Given the description of an element on the screen output the (x, y) to click on. 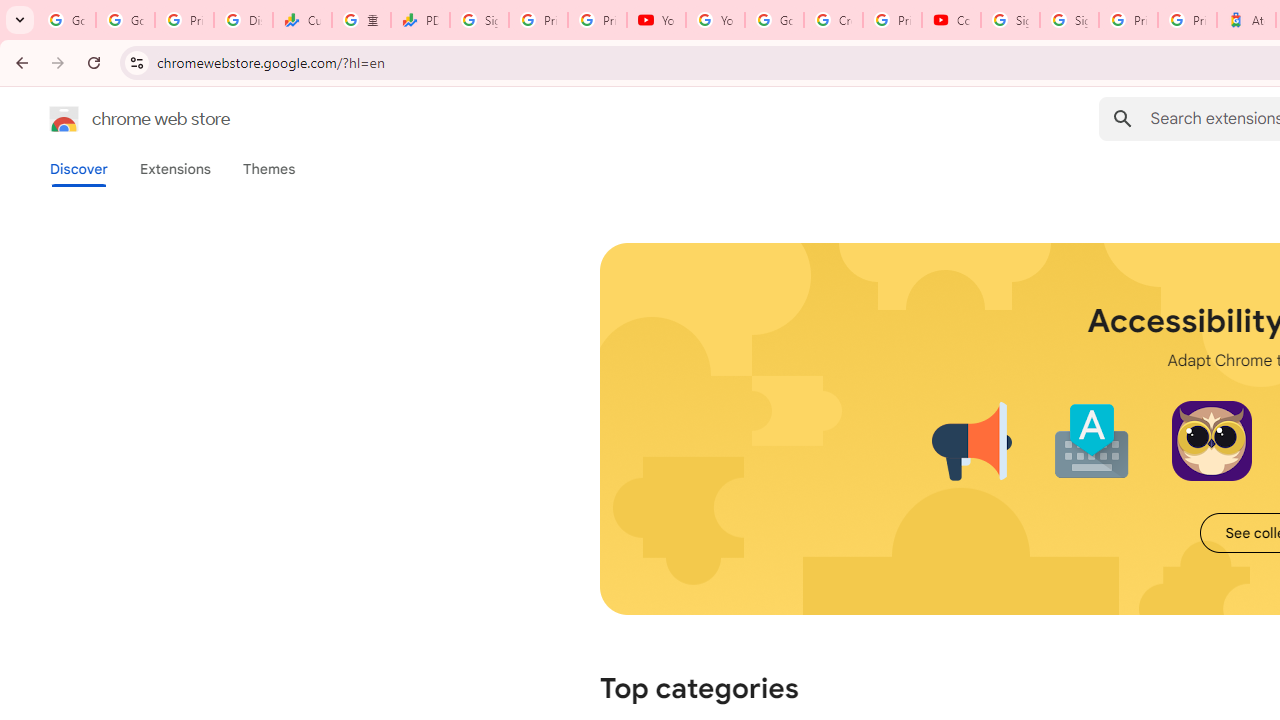
Chrome Web Store logo chrome web store (118, 118)
Create your Google Account (832, 20)
Sign in - Google Accounts (1069, 20)
Chrome Web Store logo (63, 118)
Discover (79, 169)
Extensions (174, 169)
View site information (136, 62)
Google Workspace Admin Community (66, 20)
Forward (57, 62)
